Given the description of an element on the screen output the (x, y) to click on. 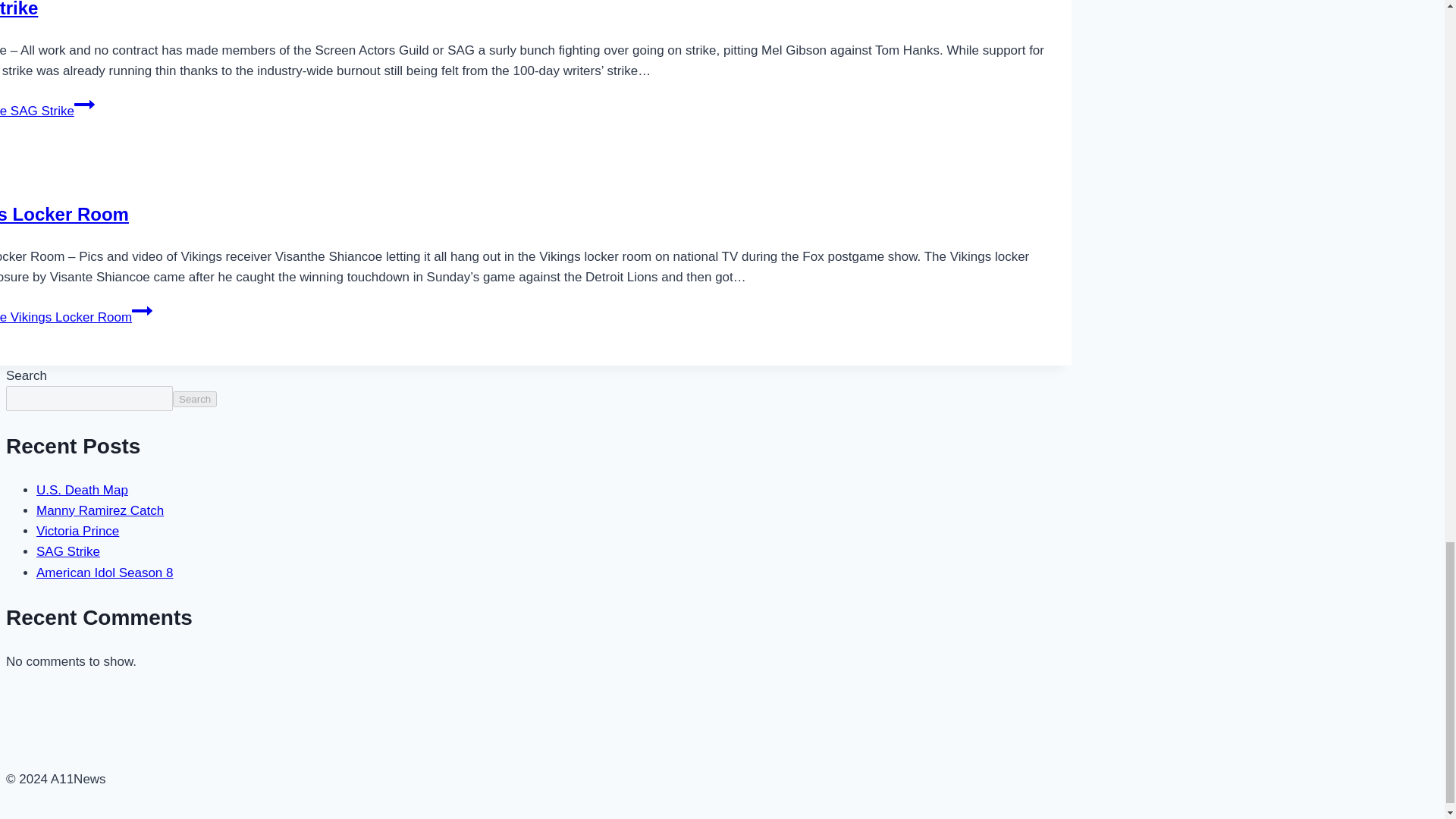
Manny Ramirez Catch (99, 510)
U.S. Death Map (82, 490)
Victoria Prince (77, 531)
Read More SAG StrikeContinue (47, 110)
SAG Strike (68, 551)
Continue (142, 310)
Search (194, 399)
SAG Strike (18, 9)
American Idol Season 8 (104, 572)
Read More Vikings Locker RoomContinue (76, 317)
